Given the description of an element on the screen output the (x, y) to click on. 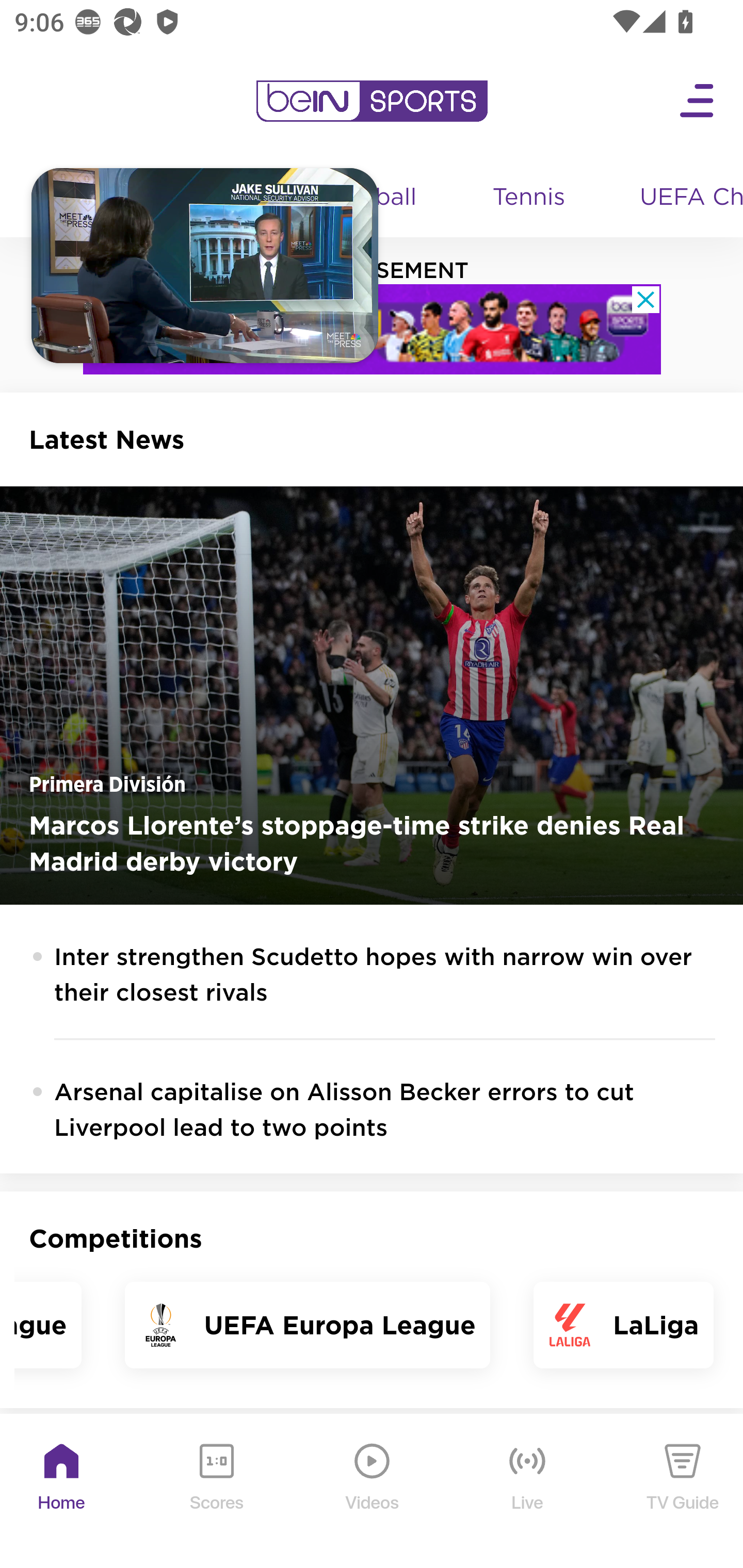
en-my?platform=mobile_android bein logo (371, 101)
Open Menu Icon (697, 101)
Tennis (530, 198)
UEFA Champions League (683, 198)
LaLiga LaLiga LaLiga (623, 1324)
Home Home Icon Home (61, 1491)
Scores Scores Icon Scores (216, 1491)
Videos Videos Icon Videos (372, 1491)
TV Guide TV Guide Icon TV Guide (682, 1491)
